Given the description of an element on the screen output the (x, y) to click on. 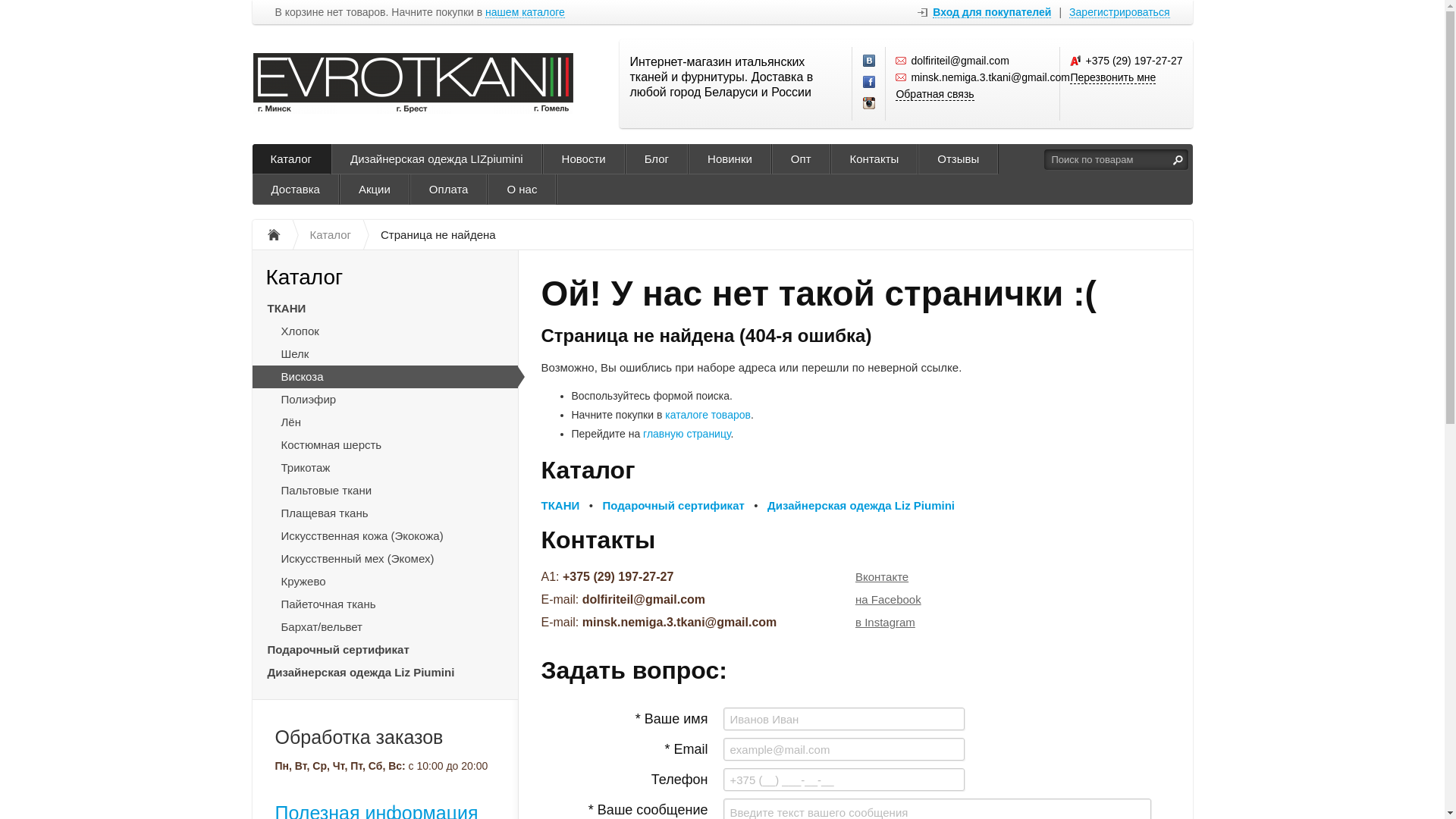
  Element type: text (1177, 159)
